Given the description of an element on the screen output the (x, y) to click on. 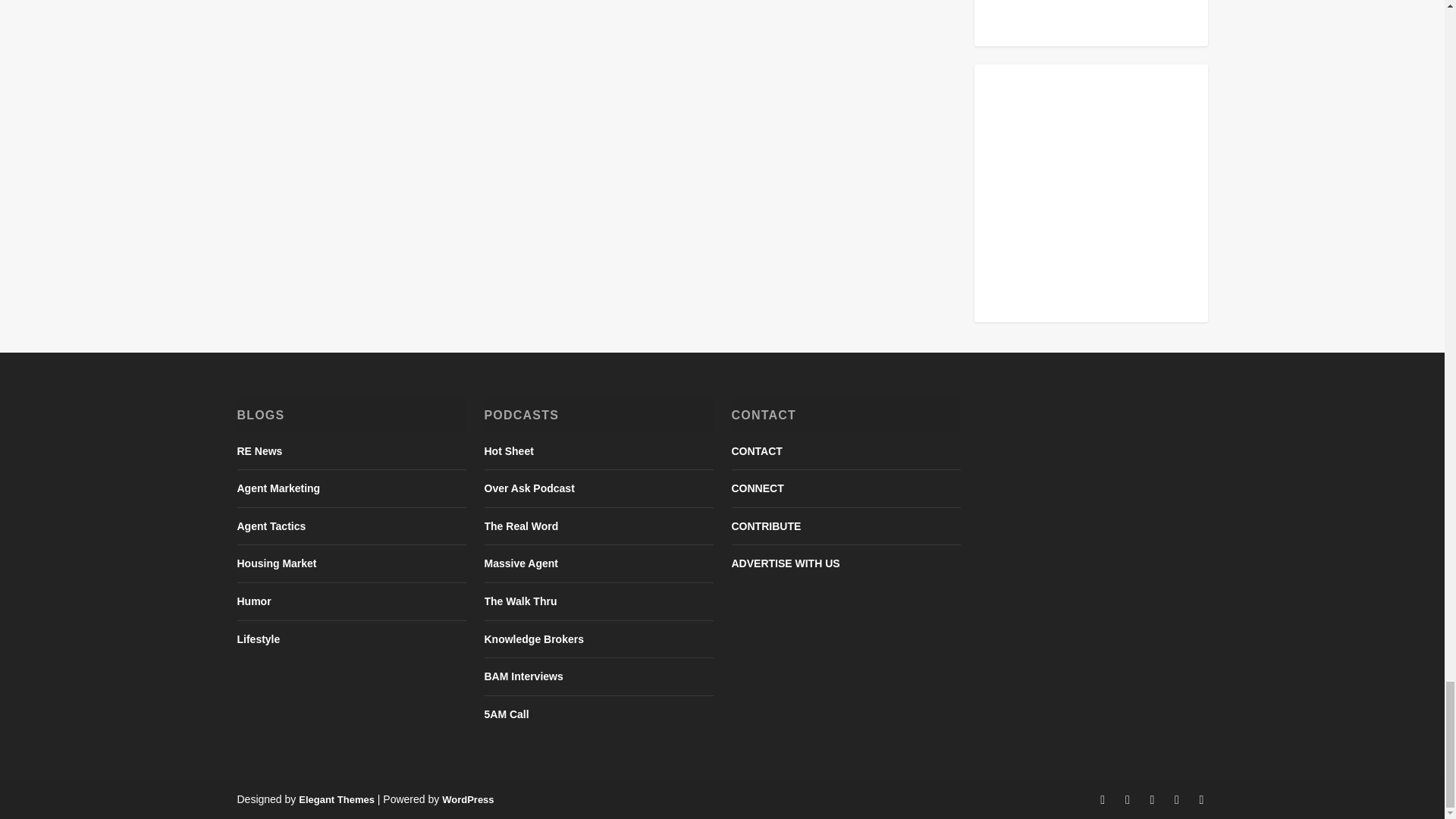
Premium WordPress Themes (336, 799)
